Given the description of an element on the screen output the (x, y) to click on. 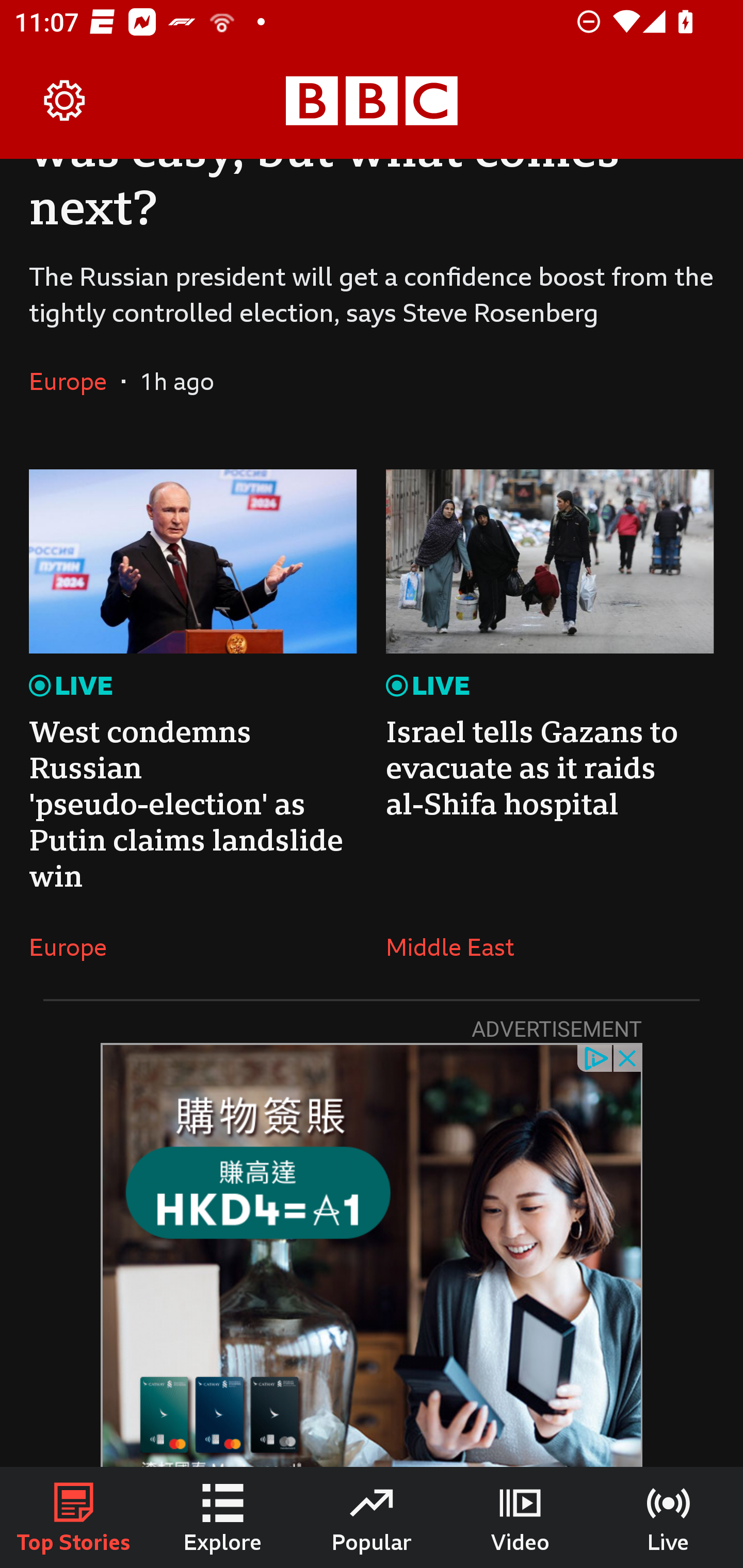
Settings (64, 100)
Europe In the section Europe (74, 380)
Europe In the section Europe (74, 946)
Middle East In the section Middle East (457, 946)
privacy_small (595, 1057)
close_button (627, 1057)
Explore (222, 1517)
Popular (371, 1517)
Video (519, 1517)
Live (668, 1517)
